Given the description of an element on the screen output the (x, y) to click on. 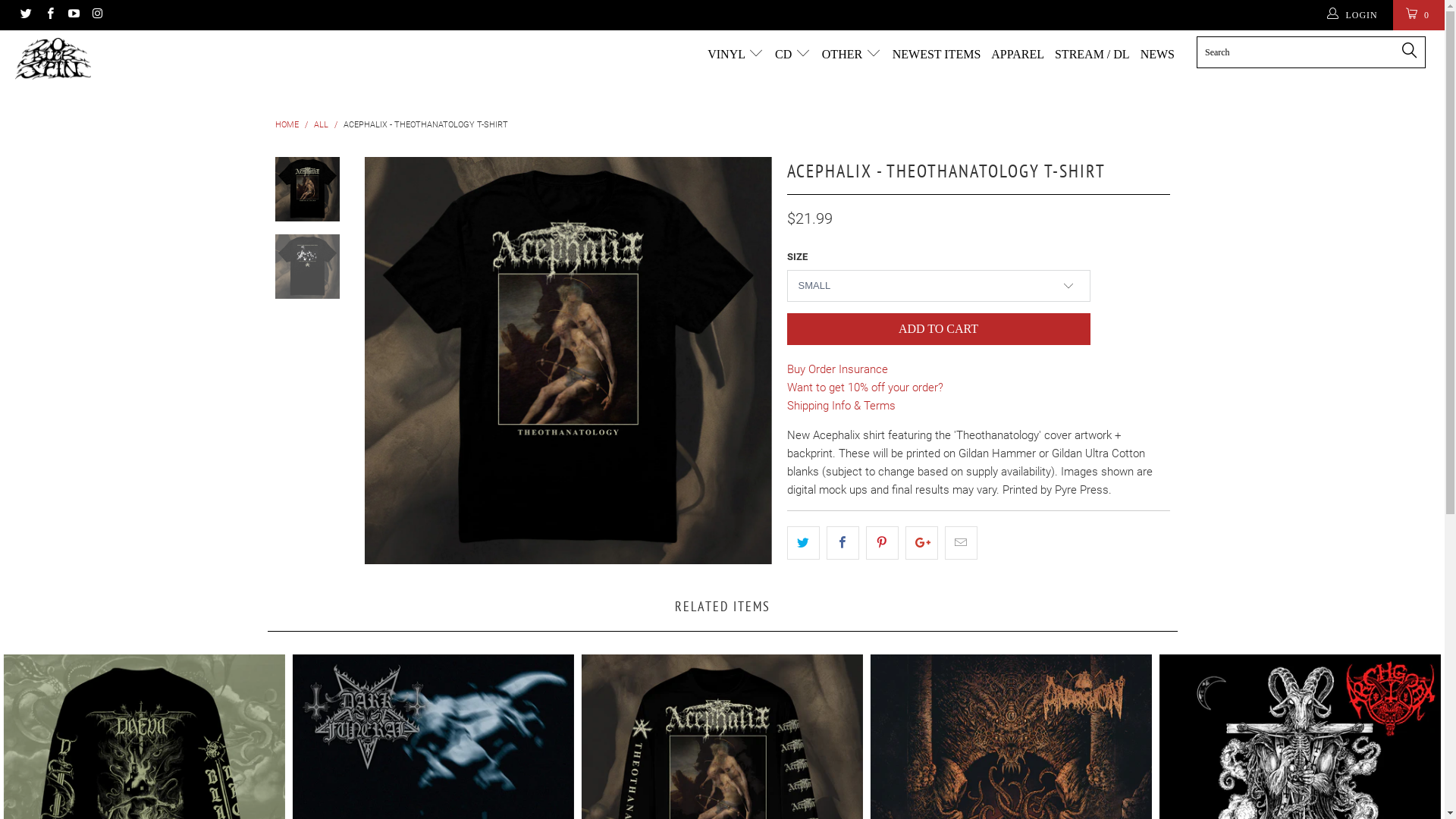
ALL Element type: text (320, 124)
HOME Element type: text (286, 124)
APPAREL Element type: text (1017, 54)
ADD TO CART Element type: text (938, 329)
Shipping Info & Terms Element type: text (841, 405)
Share this on Facebook Element type: hover (842, 542)
Email this to a friend Element type: hover (960, 542)
20 Buck Spin on Twitter Element type: hover (24, 14)
STREAM / DL Element type: text (1091, 54)
20 Buck Spin Element type: hover (123, 58)
20 Buck Spin on YouTube Element type: hover (72, 14)
LOGIN Element type: text (1353, 15)
CD Element type: text (793, 54)
Share this on Pinterest Element type: hover (882, 542)
0 Element type: text (1418, 15)
NEWEST ITEMS Element type: text (936, 54)
OTHER Element type: text (851, 54)
20 Buck Spin on Instagram Element type: hover (96, 14)
Want to get 10% off your order? Element type: text (865, 387)
NEWS Element type: text (1157, 54)
VINYL Element type: text (735, 54)
Buy Order Insurance Element type: text (837, 369)
20 Buck Spin on Facebook Element type: hover (48, 14)
Share this on Twitter Element type: hover (803, 542)
